Given the description of an element on the screen output the (x, y) to click on. 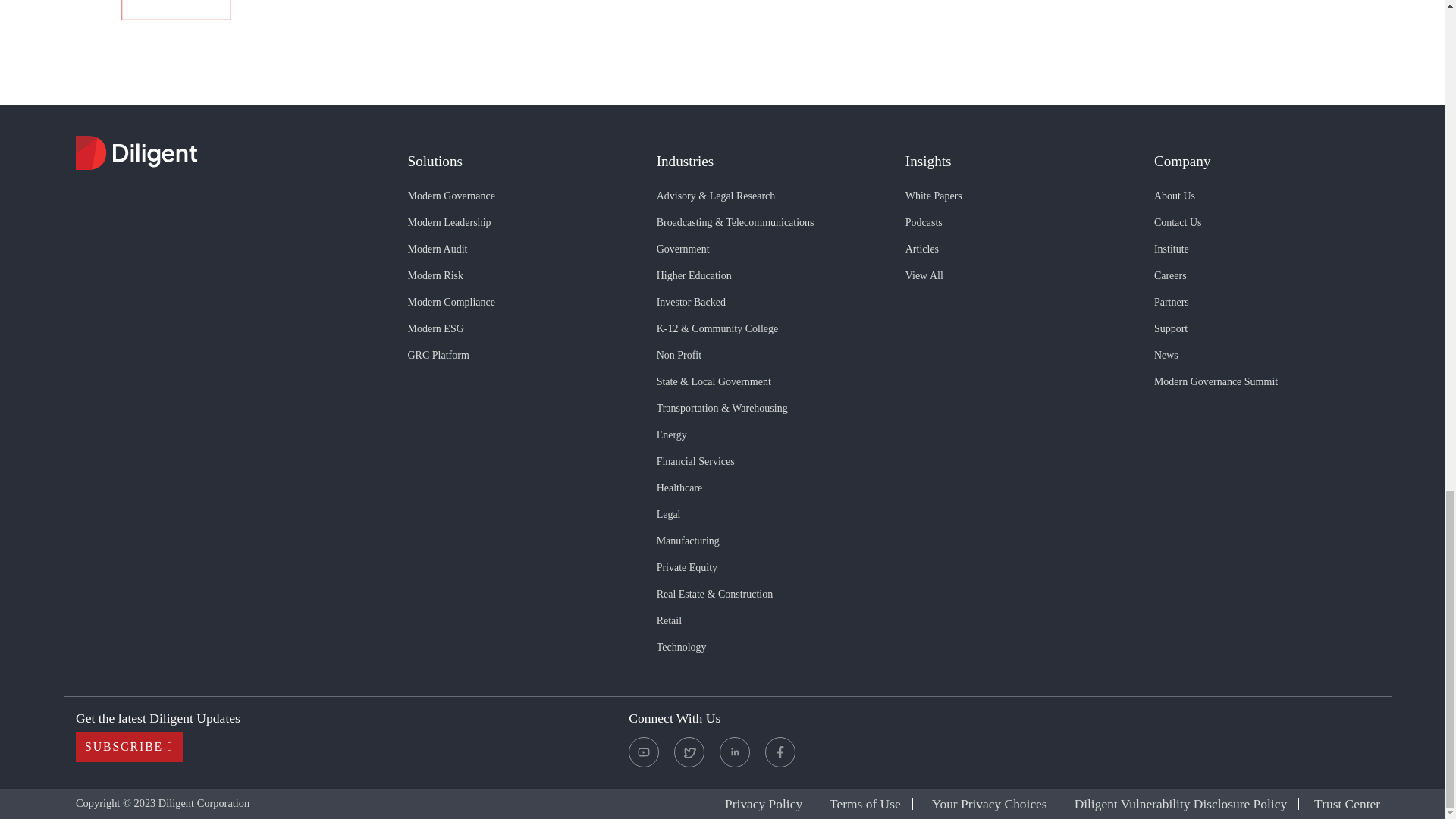
FooterLogo (230, 154)
